Given the description of an element on the screen output the (x, y) to click on. 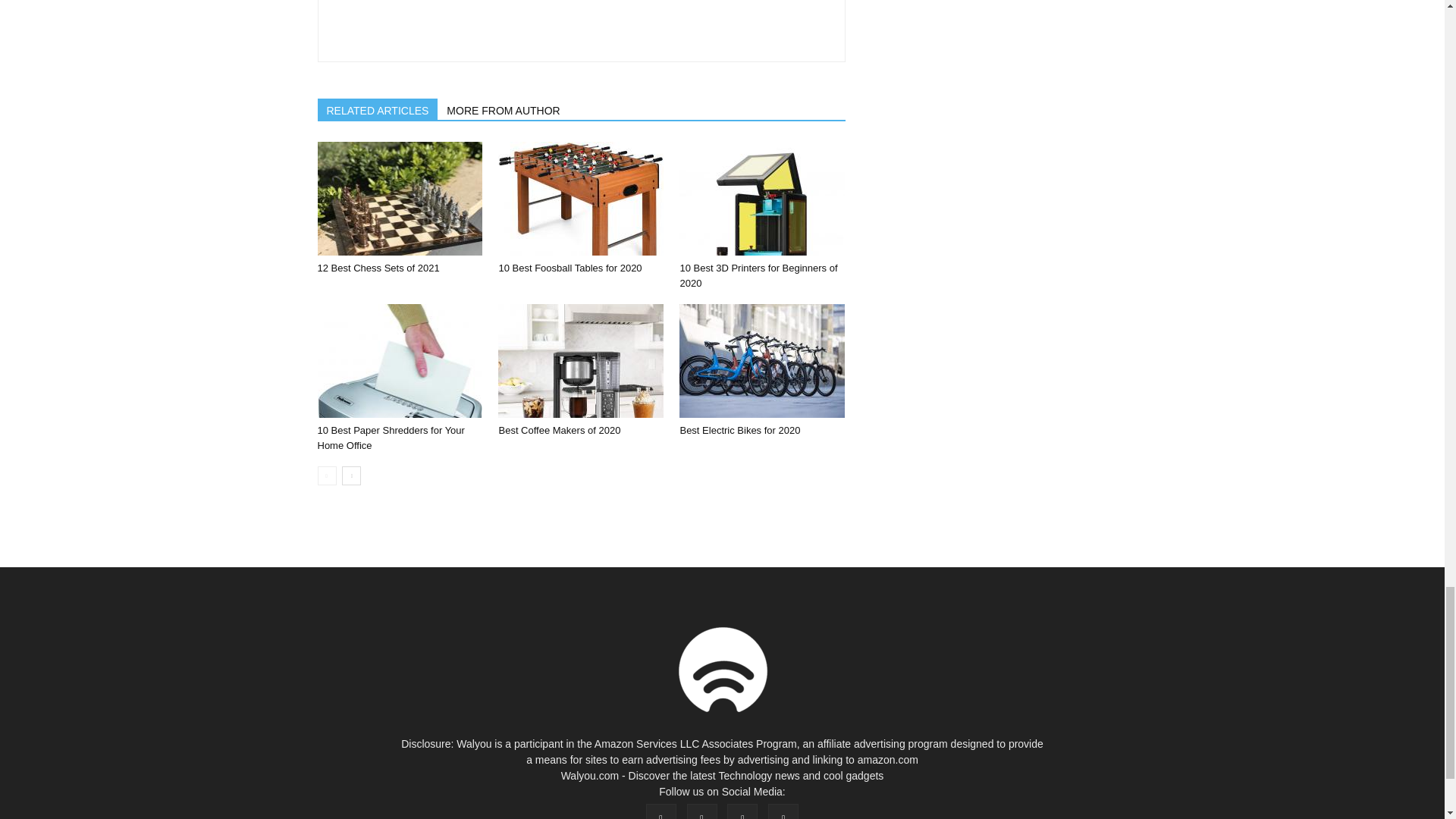
12 Best Chess Sets of 2021 (399, 198)
10 Best Foosball Tables for 2020 (580, 198)
12 Best Chess Sets of 2021 (378, 267)
